Given the description of an element on the screen output the (x, y) to click on. 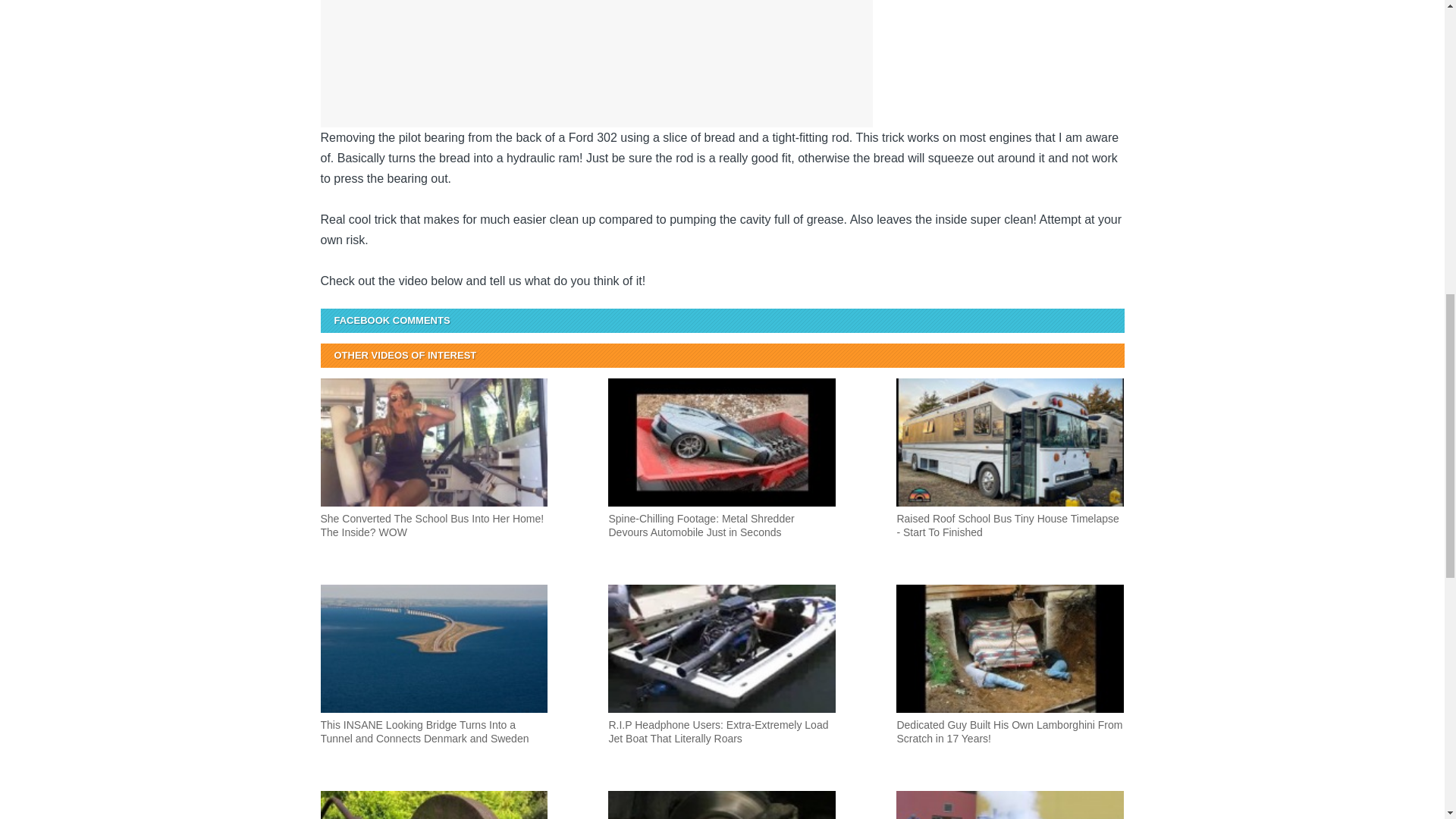
Removing Brake Rotor Screws That Won't Come Out (721, 805)
She Converted The School Bus Into Her Home! The Inside? WOW (433, 476)
Restoration of Very Rust and Very Old Water Wheel (433, 805)
Russian 30L Radial Anatov Aircraft Engine (1010, 805)
